Given the description of an element on the screen output the (x, y) to click on. 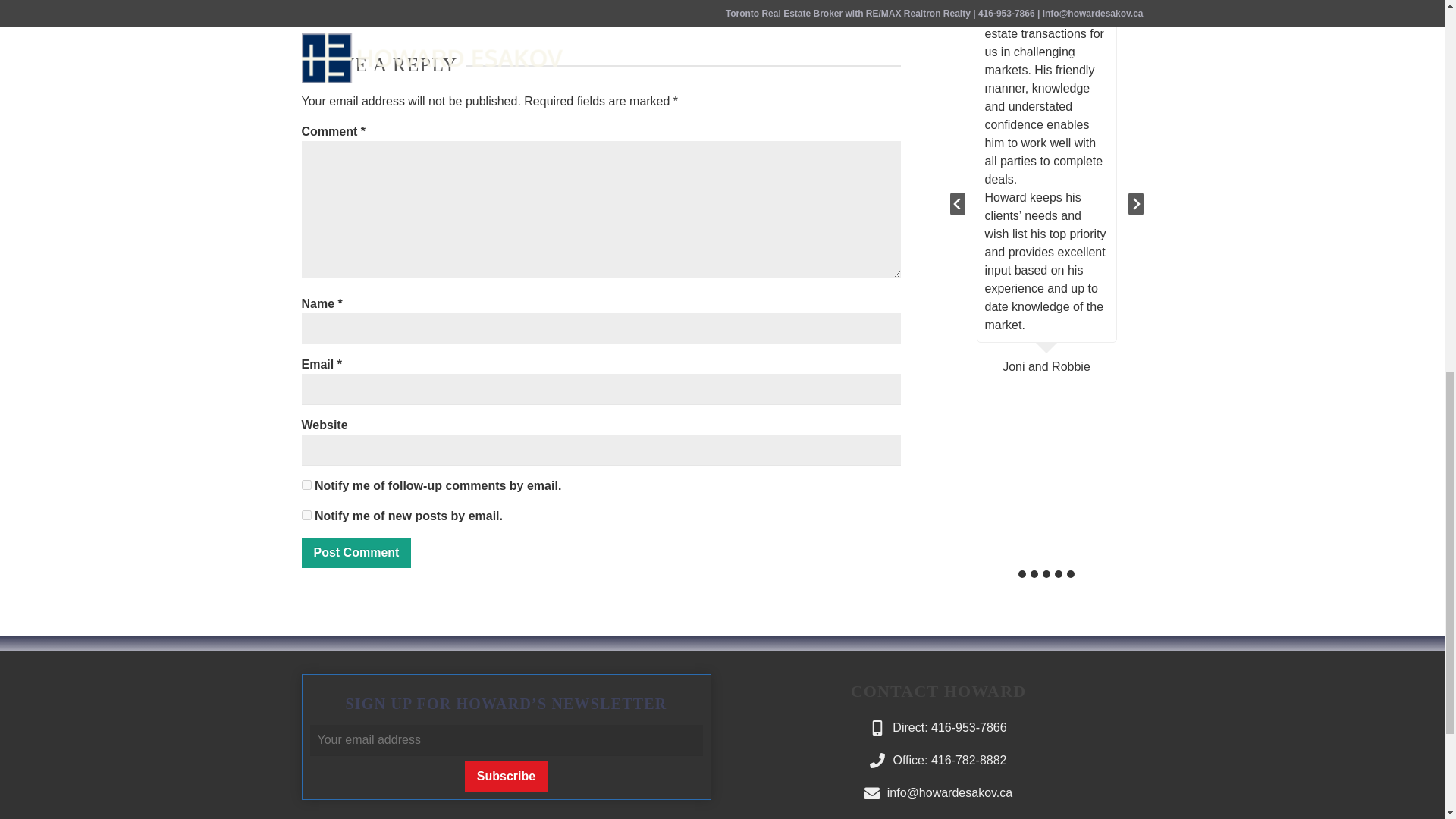
Post Comment (356, 552)
Post Comment (356, 552)
Subscribe (505, 776)
subscribe (306, 515)
subscribe (306, 484)
